Given the description of an element on the screen output the (x, y) to click on. 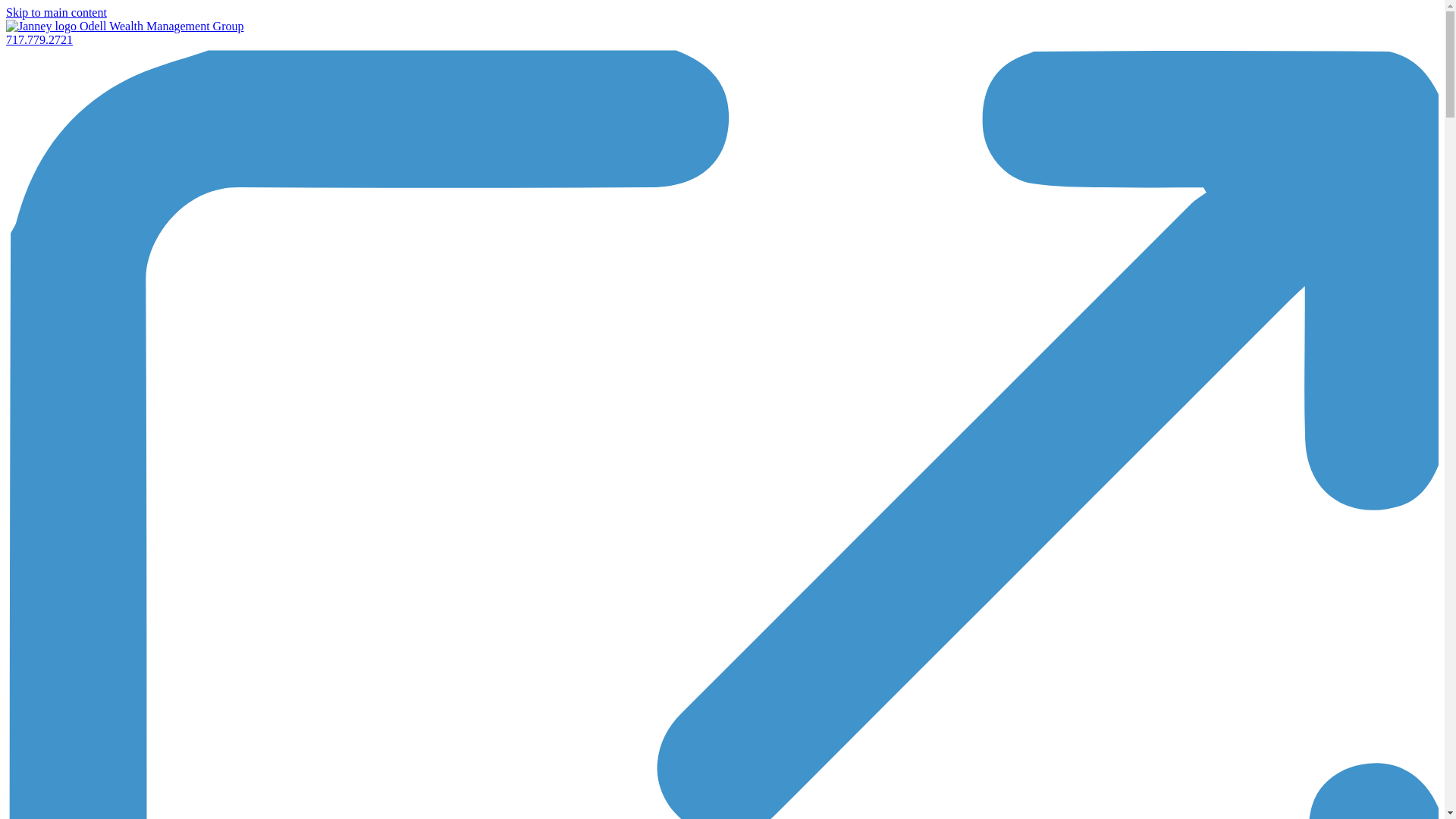
Odell Wealth Management Group (162, 25)
Skip to main content (55, 11)
717.779.2721 (38, 39)
janney-header-logo (41, 26)
contact-link (38, 39)
